Given the description of an element on the screen output the (x, y) to click on. 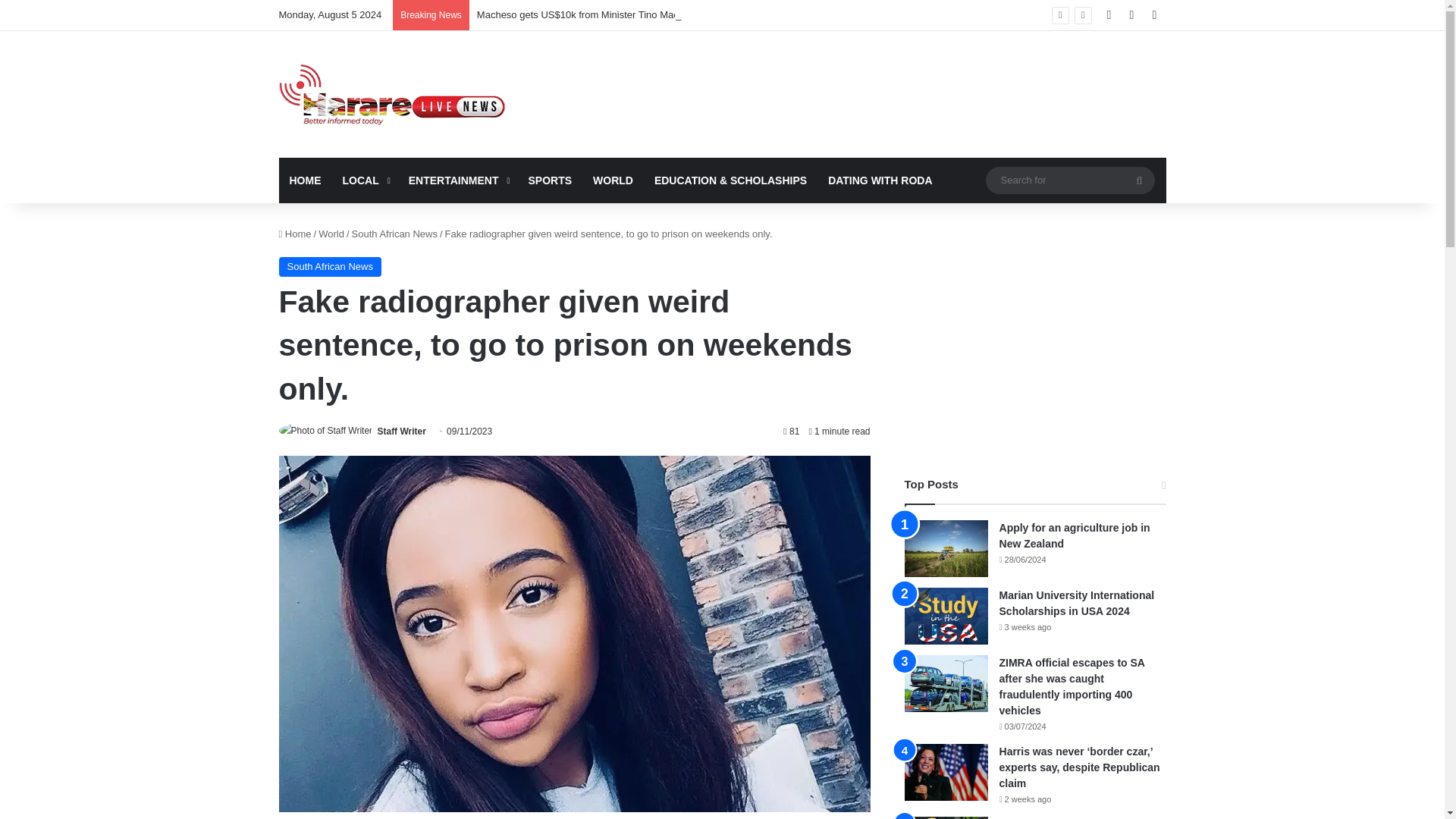
Staff Writer (401, 430)
South African News (395, 233)
Search for (1069, 180)
Home (295, 233)
Search for (1139, 180)
Staff Writer (401, 430)
South African News (330, 266)
Harare Live (392, 94)
World (330, 233)
LOCAL (364, 180)
HOME (305, 180)
DATING WITH RODA (879, 180)
ENTERTAINMENT (457, 180)
SPORTS (549, 180)
WORLD (612, 180)
